Given the description of an element on the screen output the (x, y) to click on. 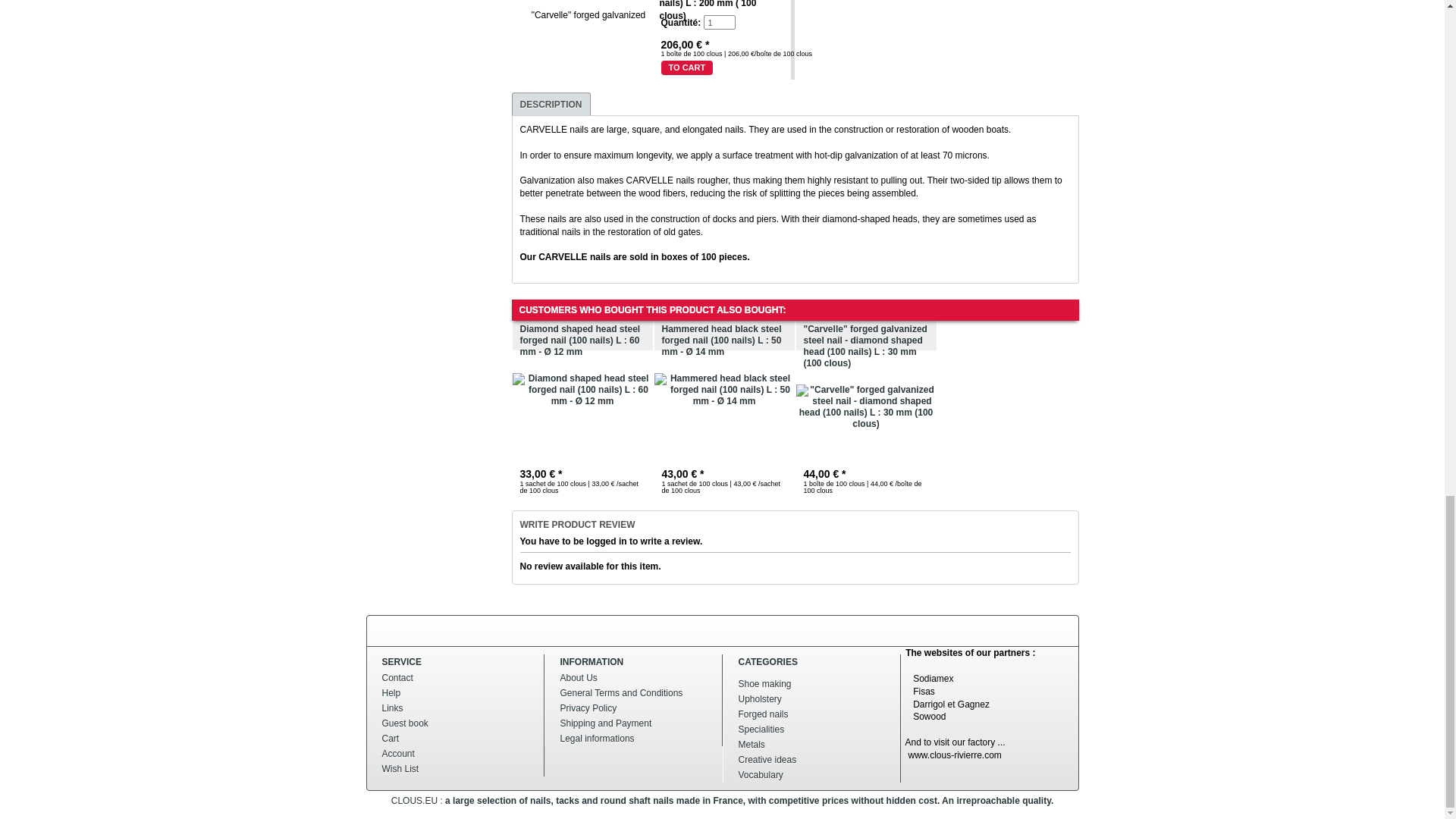
1 (719, 22)
